Given the description of an element on the screen output the (x, y) to click on. 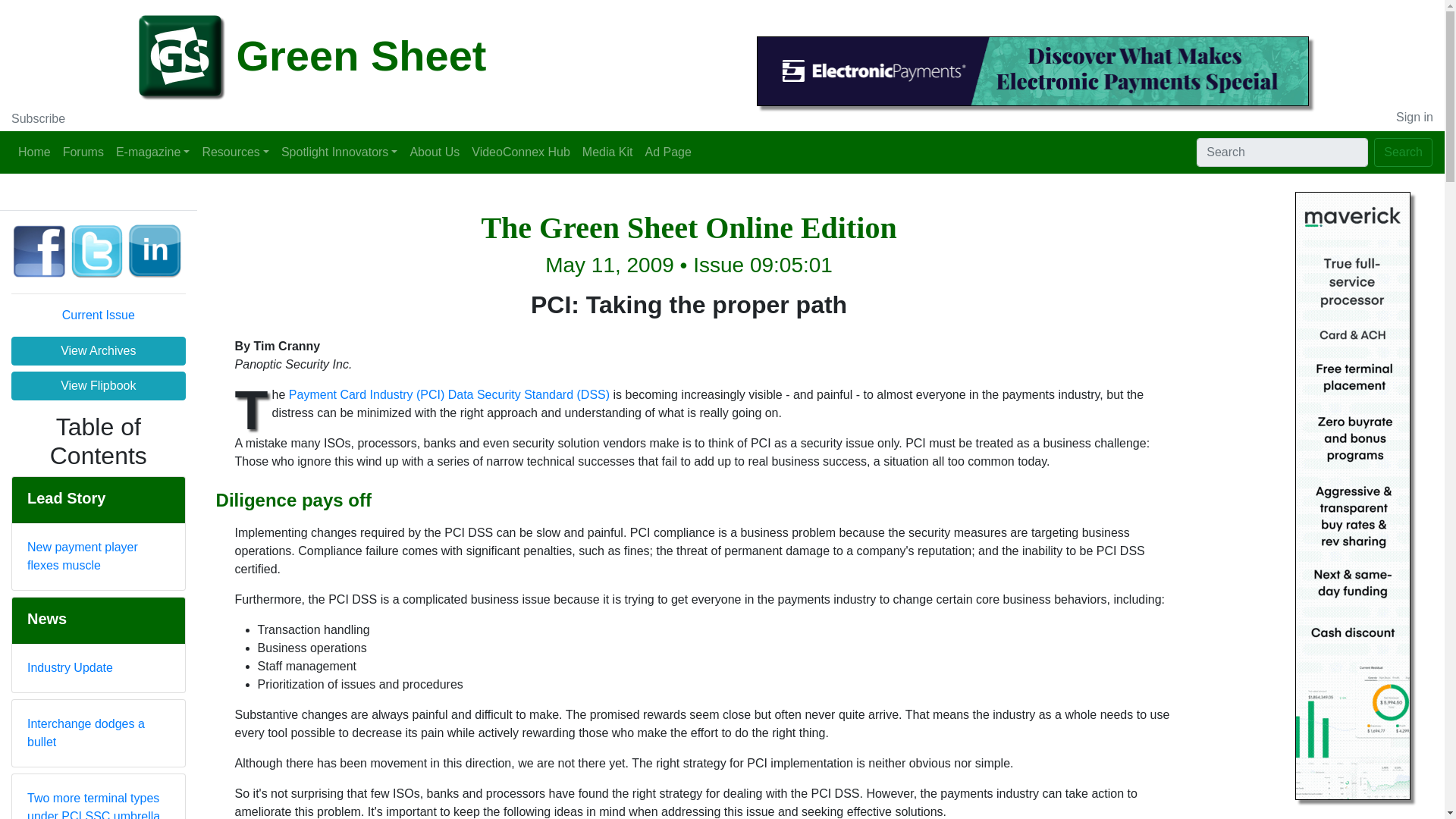
Sign in (1414, 117)
Media Kit (607, 152)
View Archives (98, 350)
Spotlight Innovators (339, 152)
Forums (83, 152)
Search (1403, 152)
About Us (434, 152)
Subscribe (38, 118)
Resources (235, 152)
Ad Page (668, 152)
